Given the description of an element on the screen output the (x, y) to click on. 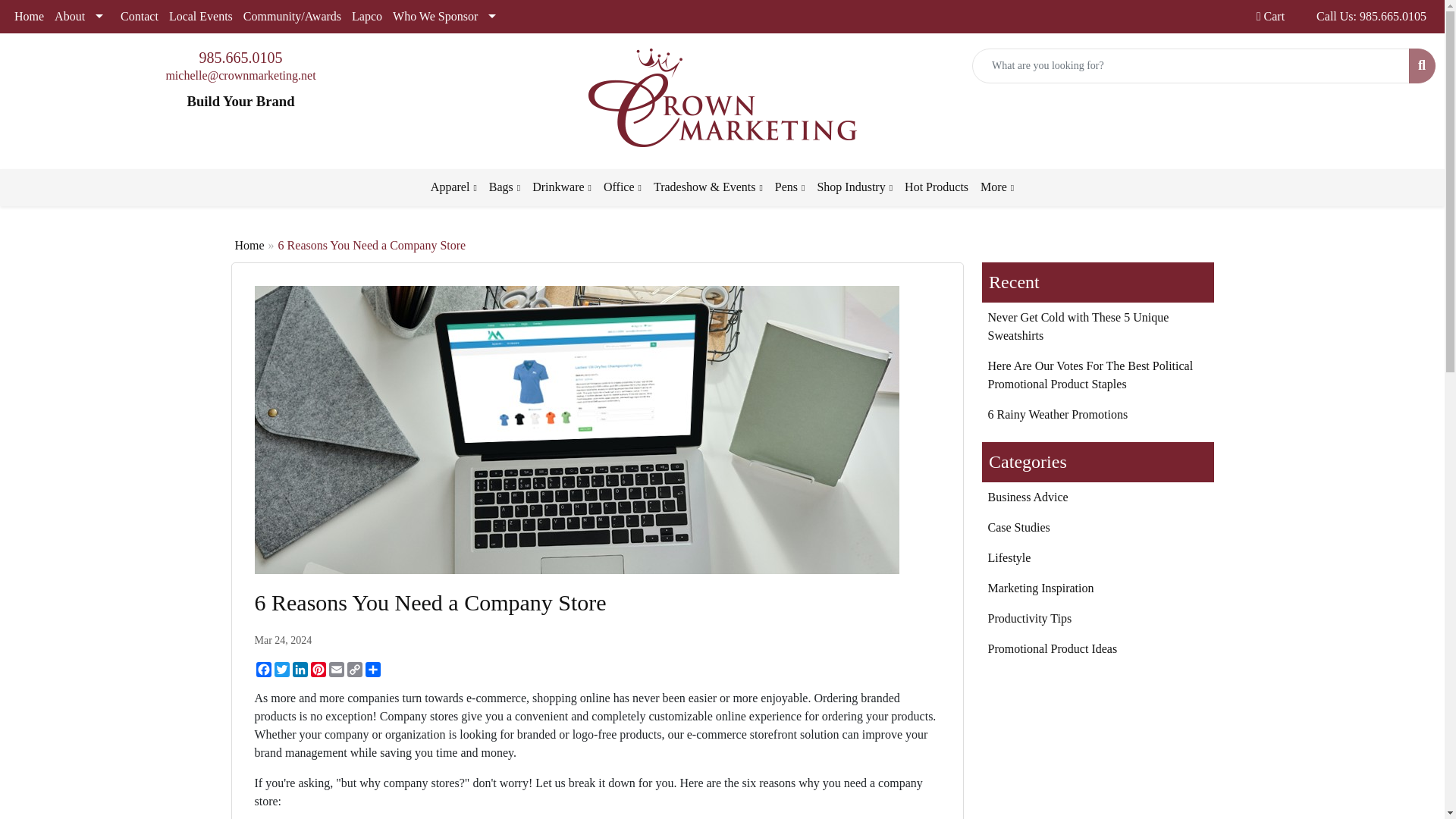
Contact (139, 16)
Home (28, 16)
Who We Sponsor (447, 16)
Cart (1270, 16)
Lapco (366, 16)
Call Us: 985.665.0105 (1371, 16)
Apparel (454, 187)
Local Events (200, 16)
About (82, 16)
985.665.0105 (240, 57)
